Given the description of an element on the screen output the (x, y) to click on. 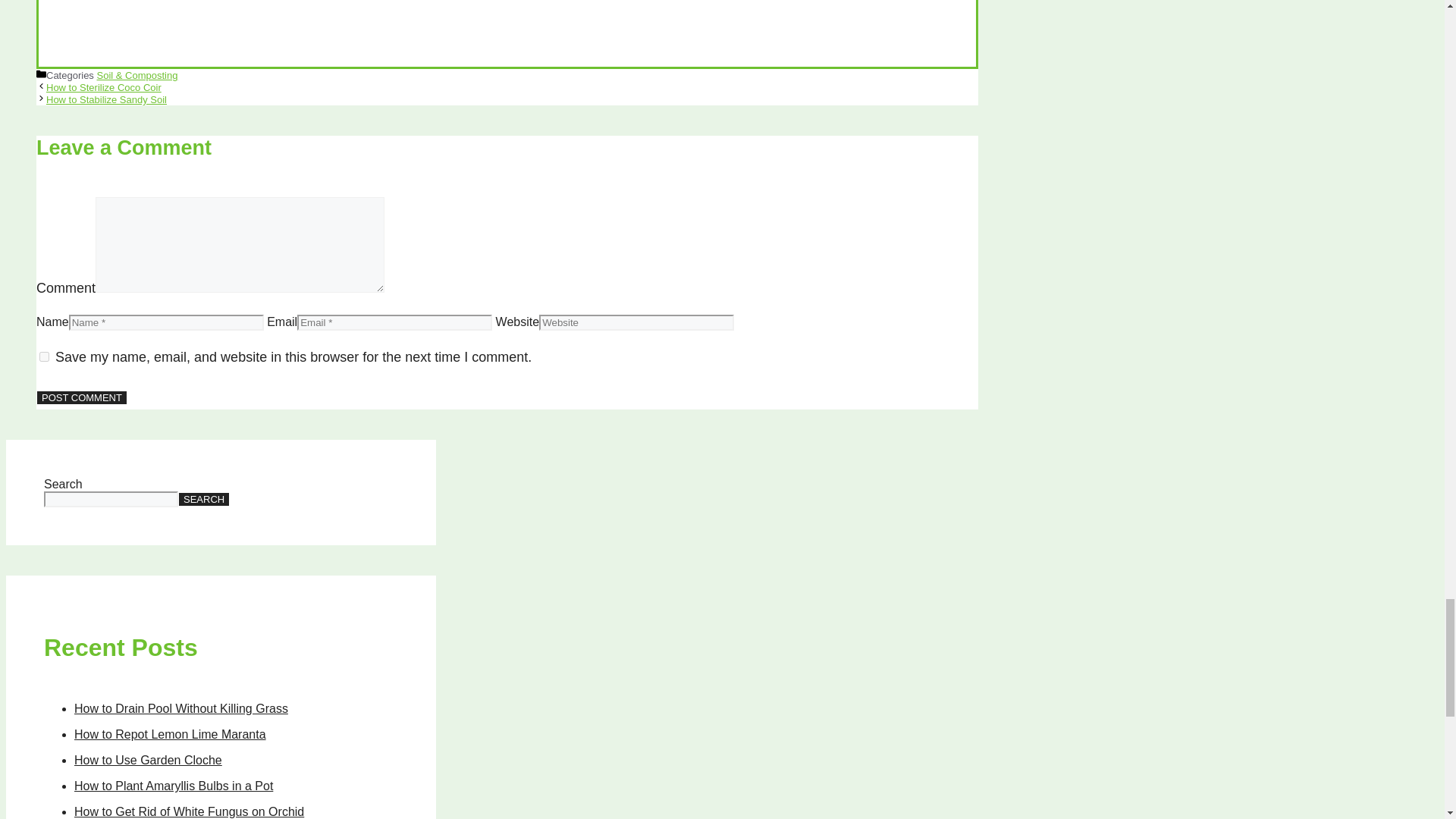
Post Comment (82, 397)
How to Use Garden Cloche (148, 759)
How to Repot Lemon Lime Maranta (170, 734)
SEARCH (203, 499)
How to Sterilize Coco Coir (103, 87)
How to Get Rid of White Fungus on Orchid (189, 811)
How to Drain Pool Without Killing Grass (181, 707)
yes (44, 356)
Post Comment (82, 397)
How to Plant Amaryllis Bulbs in a Pot (173, 785)
